Given the description of an element on the screen output the (x, y) to click on. 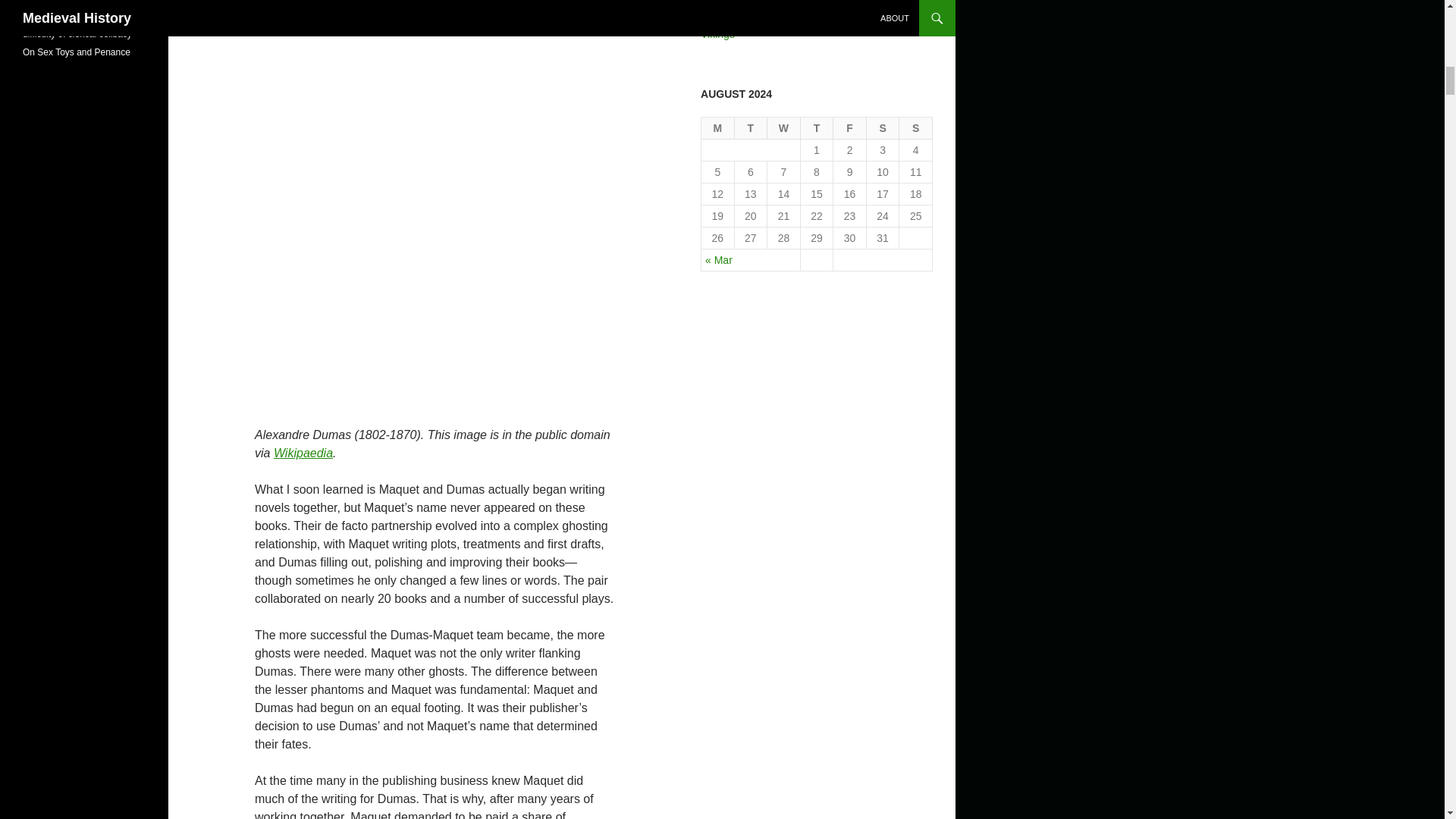
Wikipaedia (303, 452)
